Given the description of an element on the screen output the (x, y) to click on. 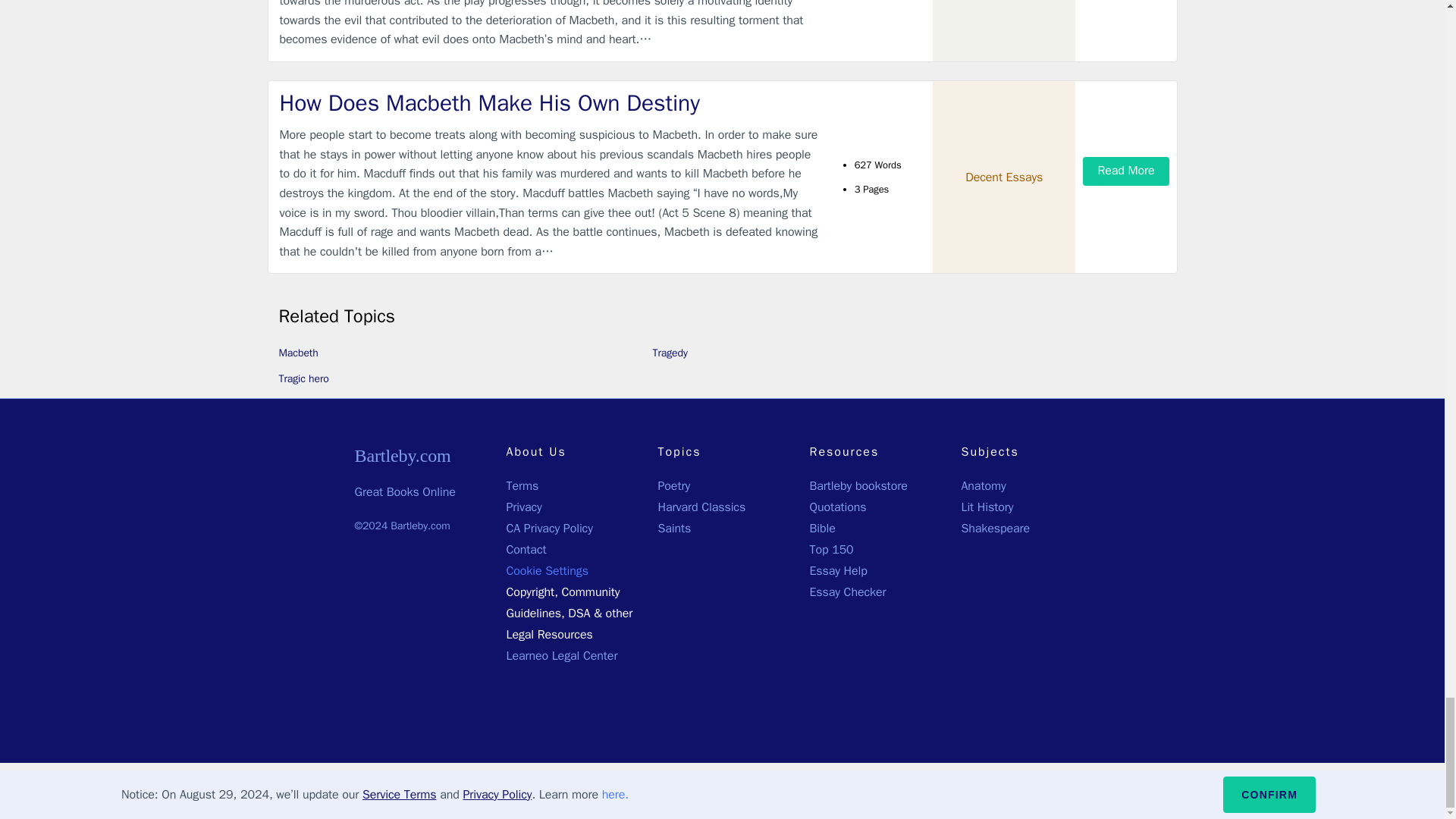
Tragedy (669, 352)
Tragic hero (304, 378)
Macbeth (298, 352)
